Given the description of an element on the screen output the (x, y) to click on. 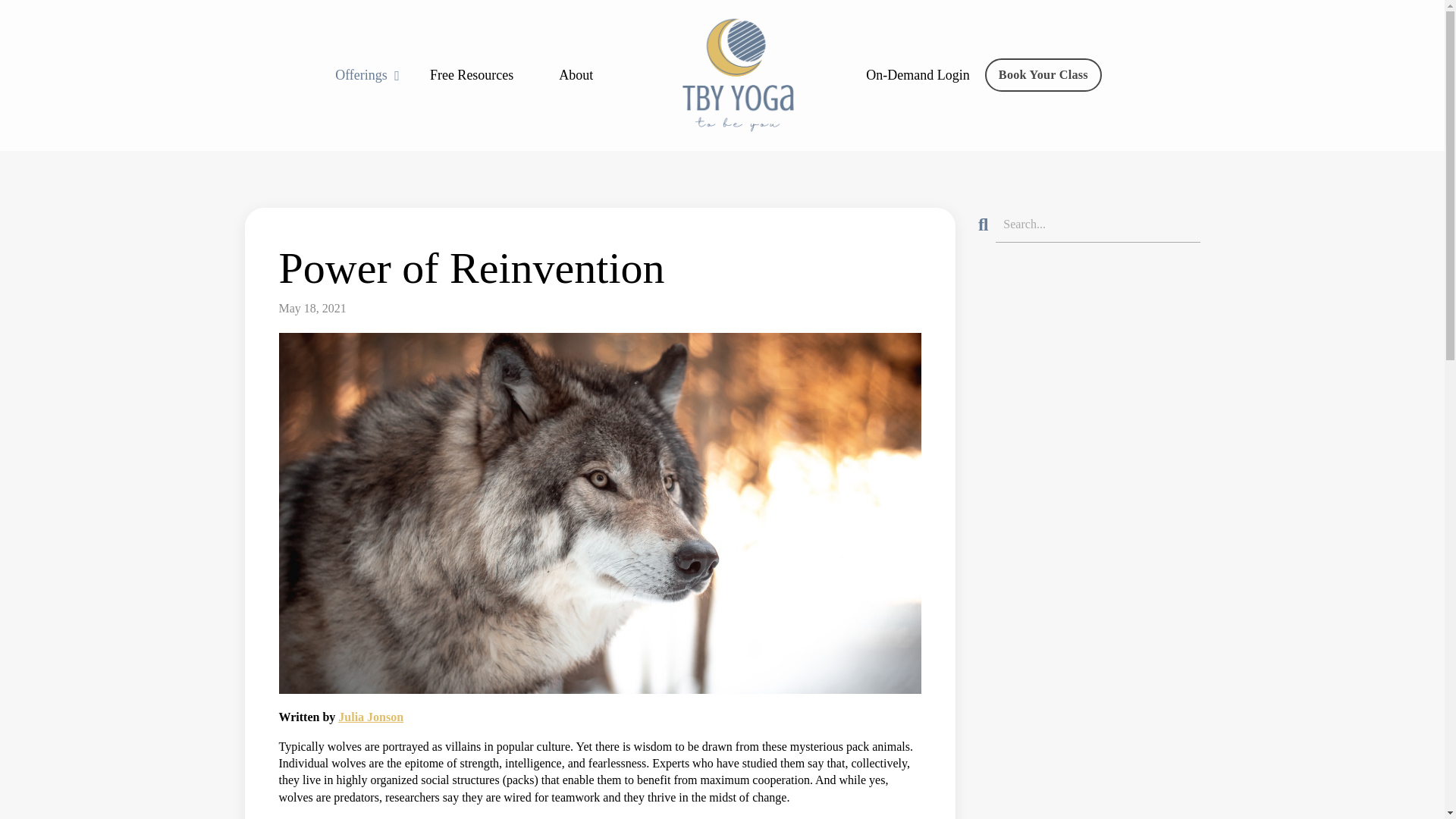
Book Your Class (1043, 74)
Free Resources (471, 75)
Offerings (366, 75)
About (575, 75)
On-Demand Login (917, 74)
Julia Jonson (370, 716)
